Given the description of an element on the screen output the (x, y) to click on. 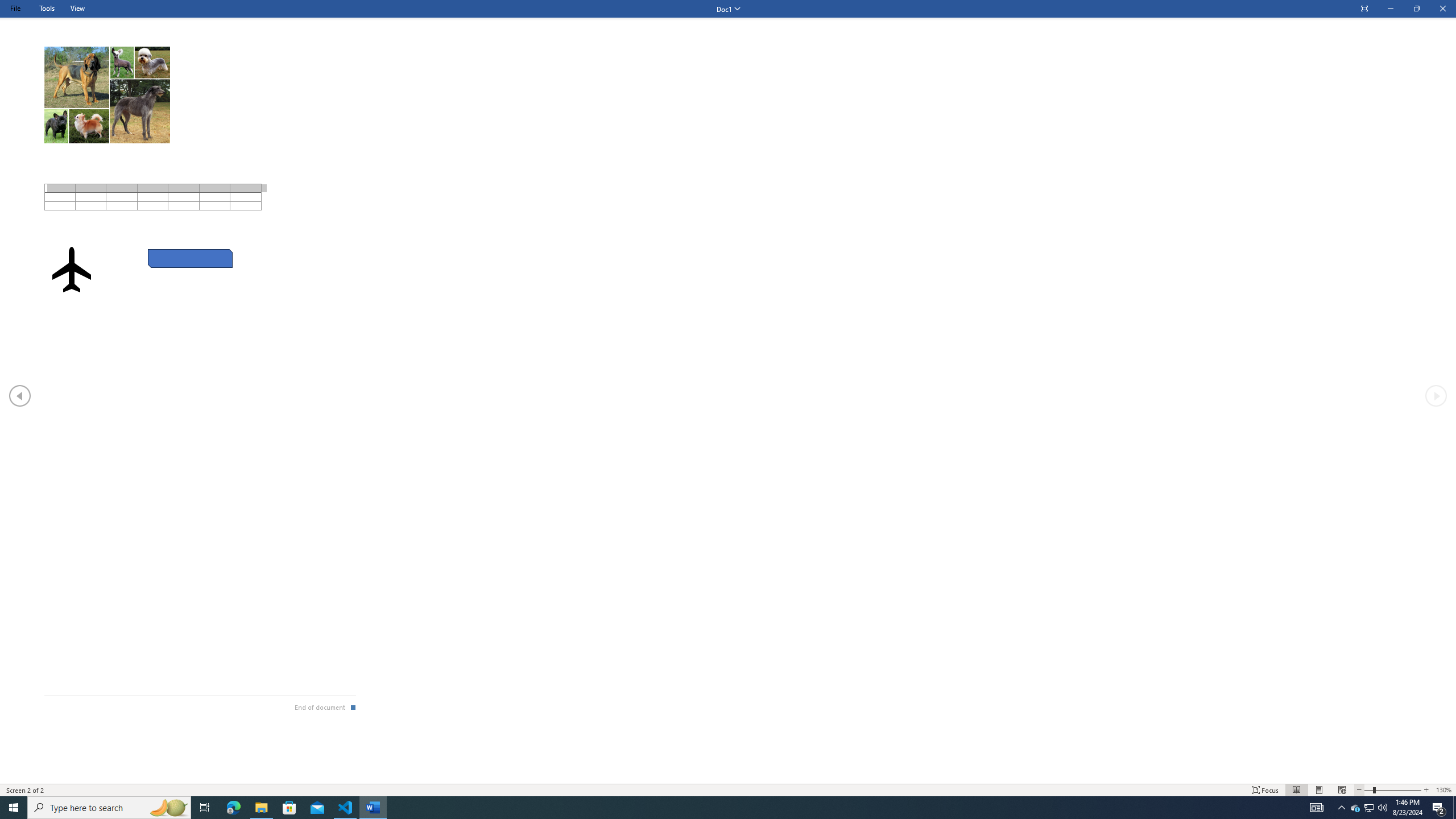
Class: NetUIScrollBar (728, 778)
Page Number Screen 2 of 2  (25, 790)
Class: MsoCommandBar (728, 789)
Decrease Text Size (1359, 790)
Airplane with solid fill (71, 269)
Text Size (1392, 790)
